Given the description of an element on the screen output the (x, y) to click on. 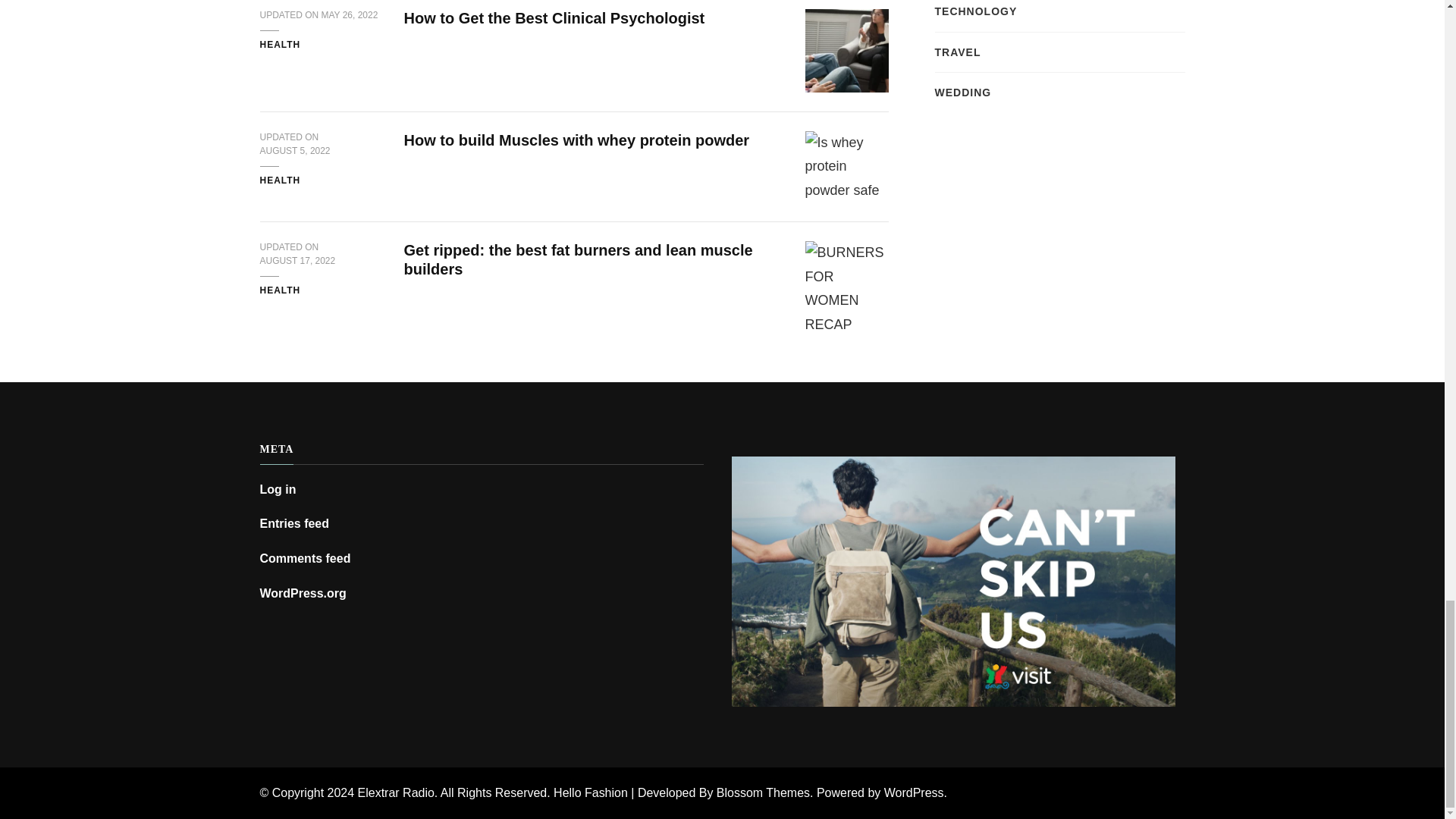
MAY 26, 2022 (349, 15)
How to build Muscles with whey protein powder (576, 139)
AUGUST 17, 2022 (296, 261)
HEALTH (279, 181)
HEALTH (279, 45)
How to Get the Best Clinical Psychologist (553, 17)
HEALTH (279, 291)
AUGUST 5, 2022 (294, 151)
Get ripped: the best fat burners and lean muscle builders (577, 259)
